Given the description of an element on the screen output the (x, y) to click on. 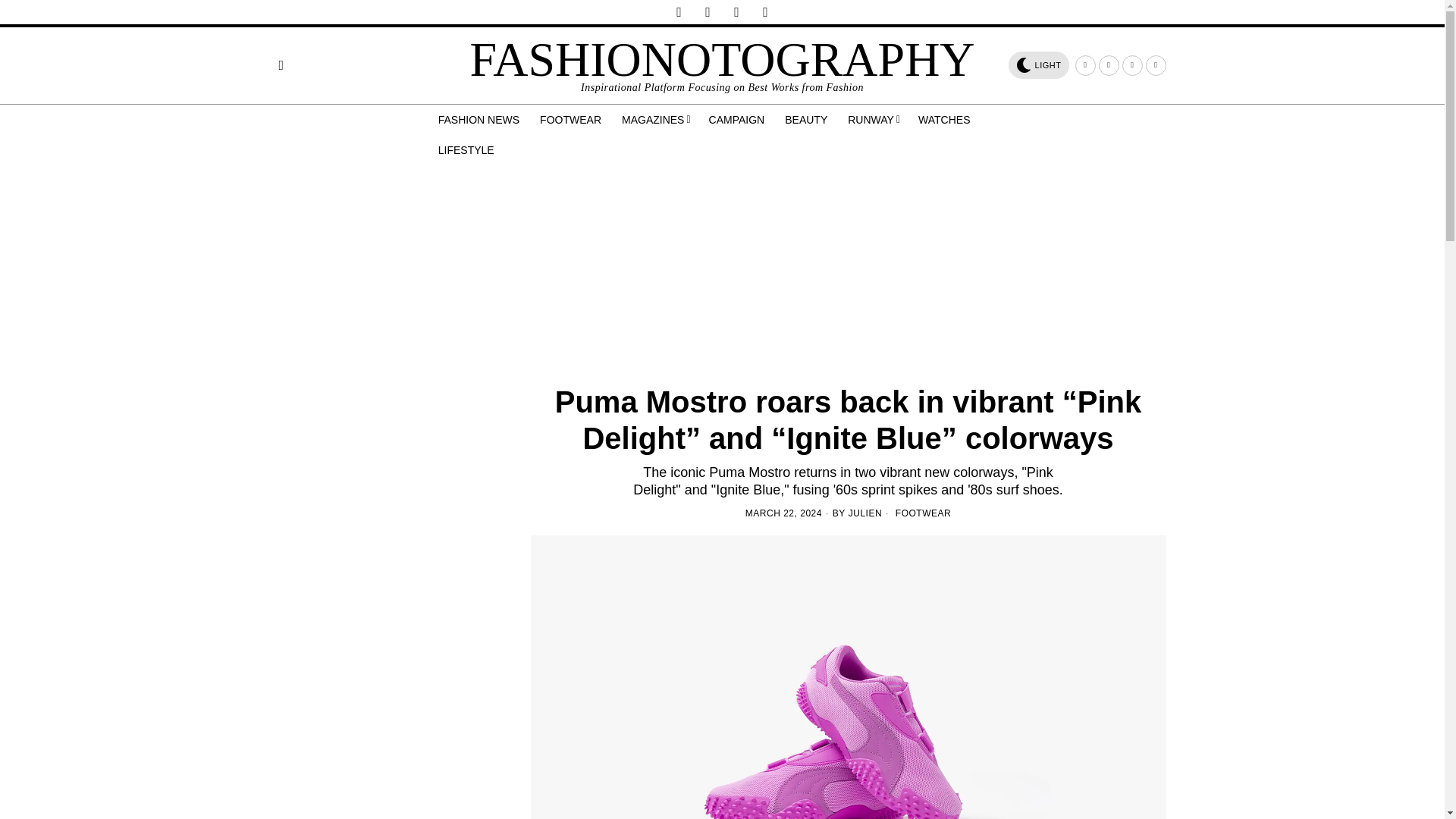
WATCHES (944, 119)
CAMPAIGN (738, 119)
22 Mar, 2024 10:00:00 (783, 513)
BEAUTY (807, 119)
FOOTWEAR (571, 119)
MAGAZINES (656, 119)
FASHION NEWS (480, 119)
FOOTWEAR (922, 512)
JULIEN (865, 513)
FASHIONOTOGRAPHY (721, 59)
RUNWAY (873, 119)
LIFESTYLE (467, 150)
